Given the description of an element on the screen output the (x, y) to click on. 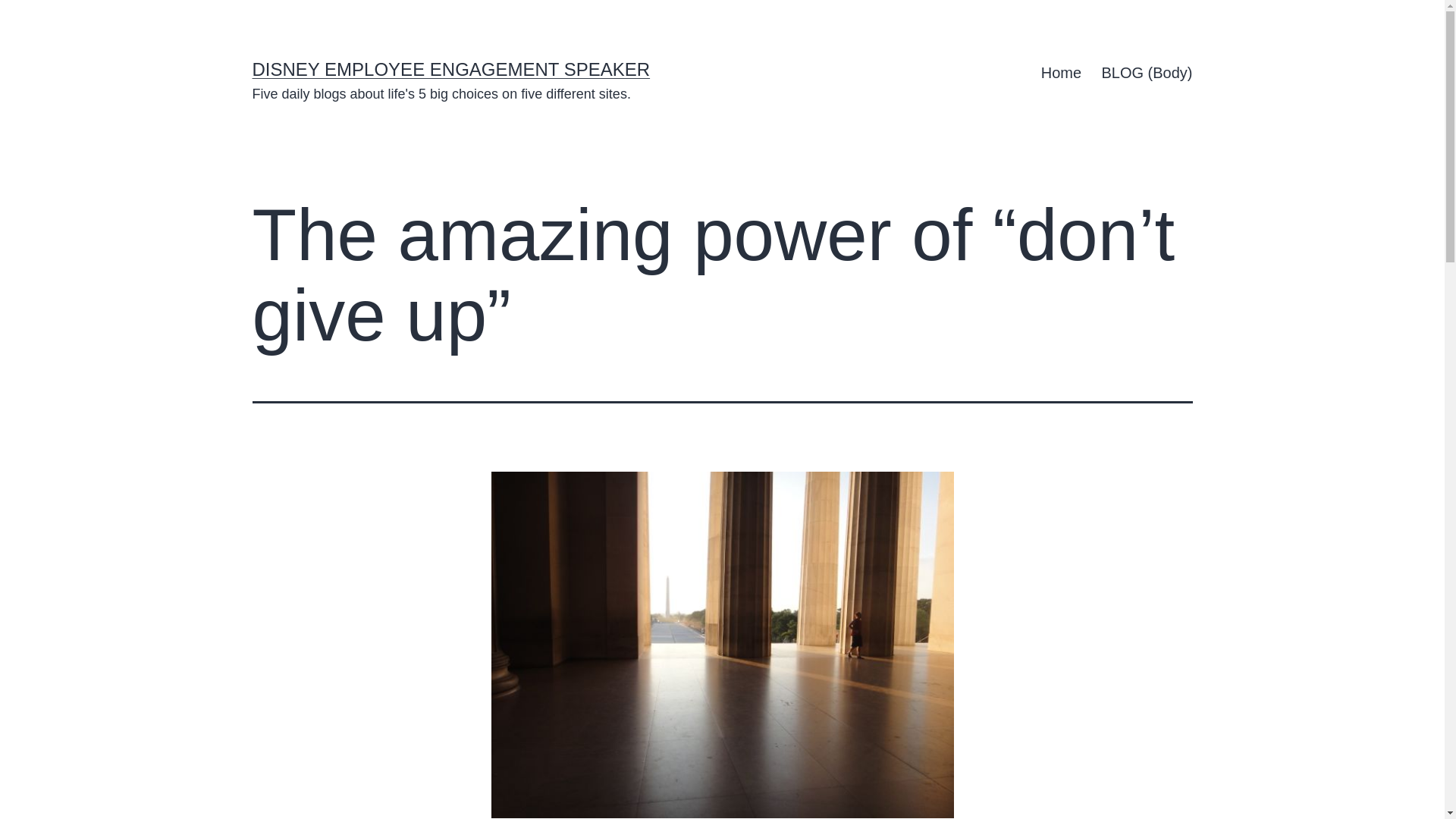
Home (1061, 72)
DISNEY EMPLOYEE ENGAGEMENT SPEAKER (450, 68)
